Given the description of an element on the screen output the (x, y) to click on. 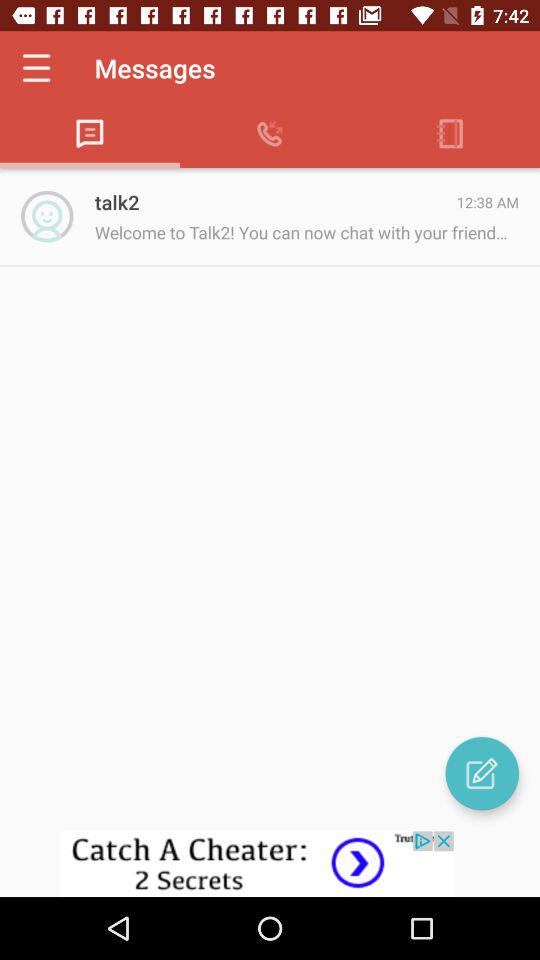
know about the advertisement (270, 864)
